Given the description of an element on the screen output the (x, y) to click on. 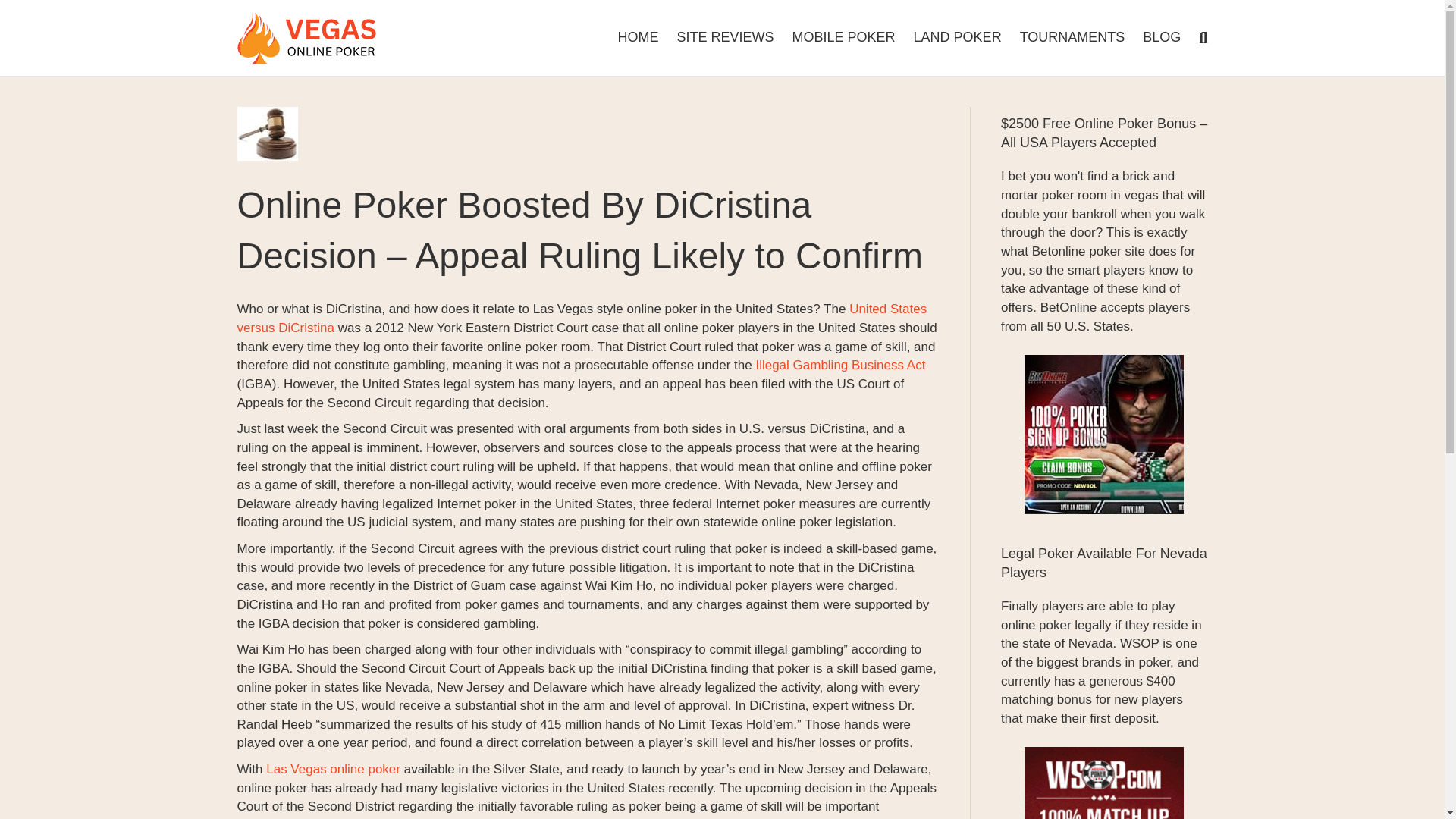
HOME (638, 37)
United States versus DiCristina (580, 318)
LAND POKER (957, 37)
SITE REVIEWS (725, 37)
BLOG (1161, 37)
TOURNAMENTS (1072, 37)
Las Vegas online poker (333, 769)
Illegal Gambling Business Act (839, 364)
MOBILE POKER (843, 37)
